Given the description of an element on the screen output the (x, y) to click on. 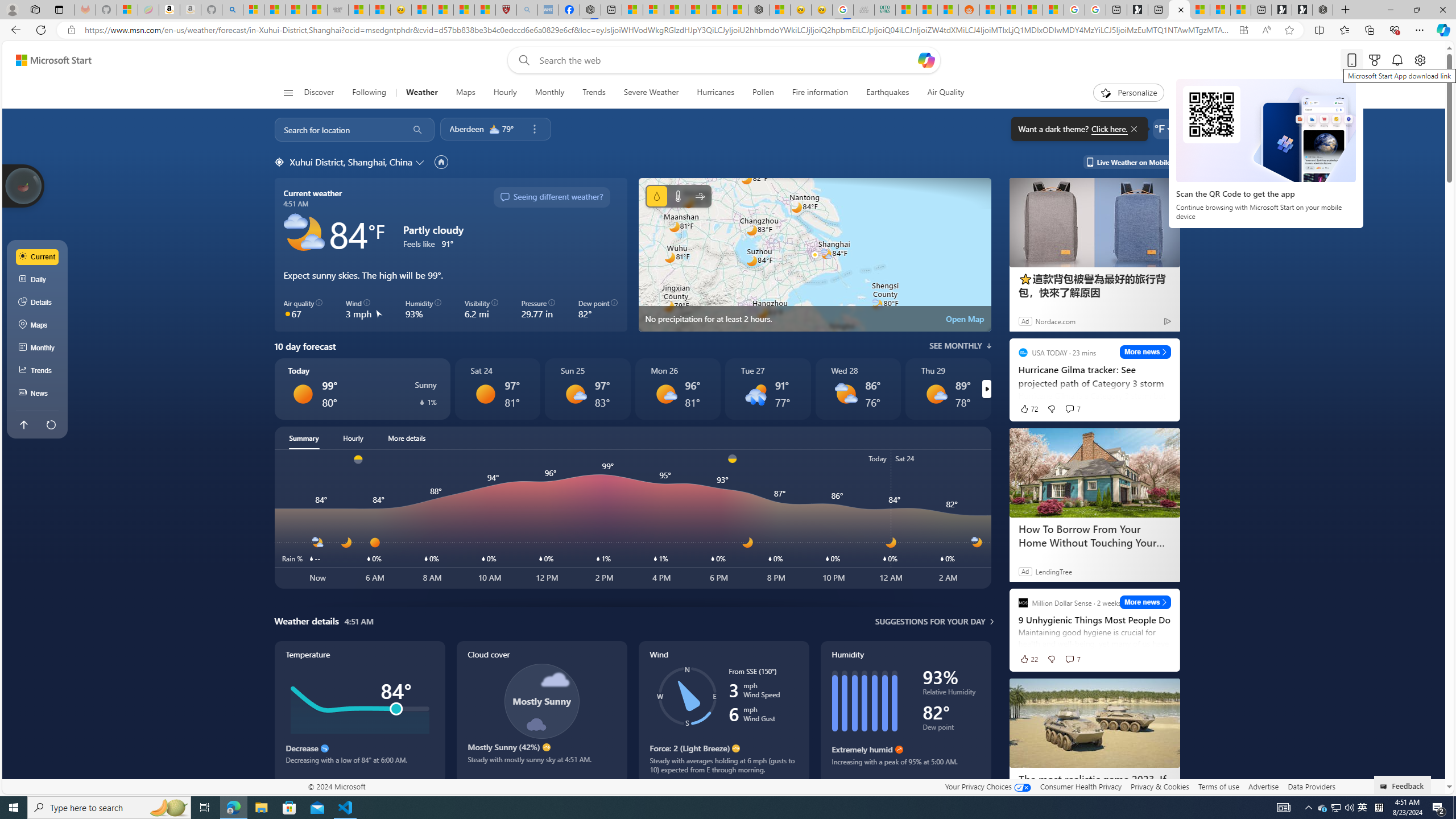
App available. Install Microsoft Start Weather (1243, 29)
Nordace - Nordace Siena Is Not An Ordinary Backpack (1322, 9)
Join us in planting real trees to help our planet! (23, 184)
Weather settings Want a dark theme?Click here. (1162, 128)
static map image of vector map (814, 254)
Wind (699, 195)
